Given the description of an element on the screen output the (x, y) to click on. 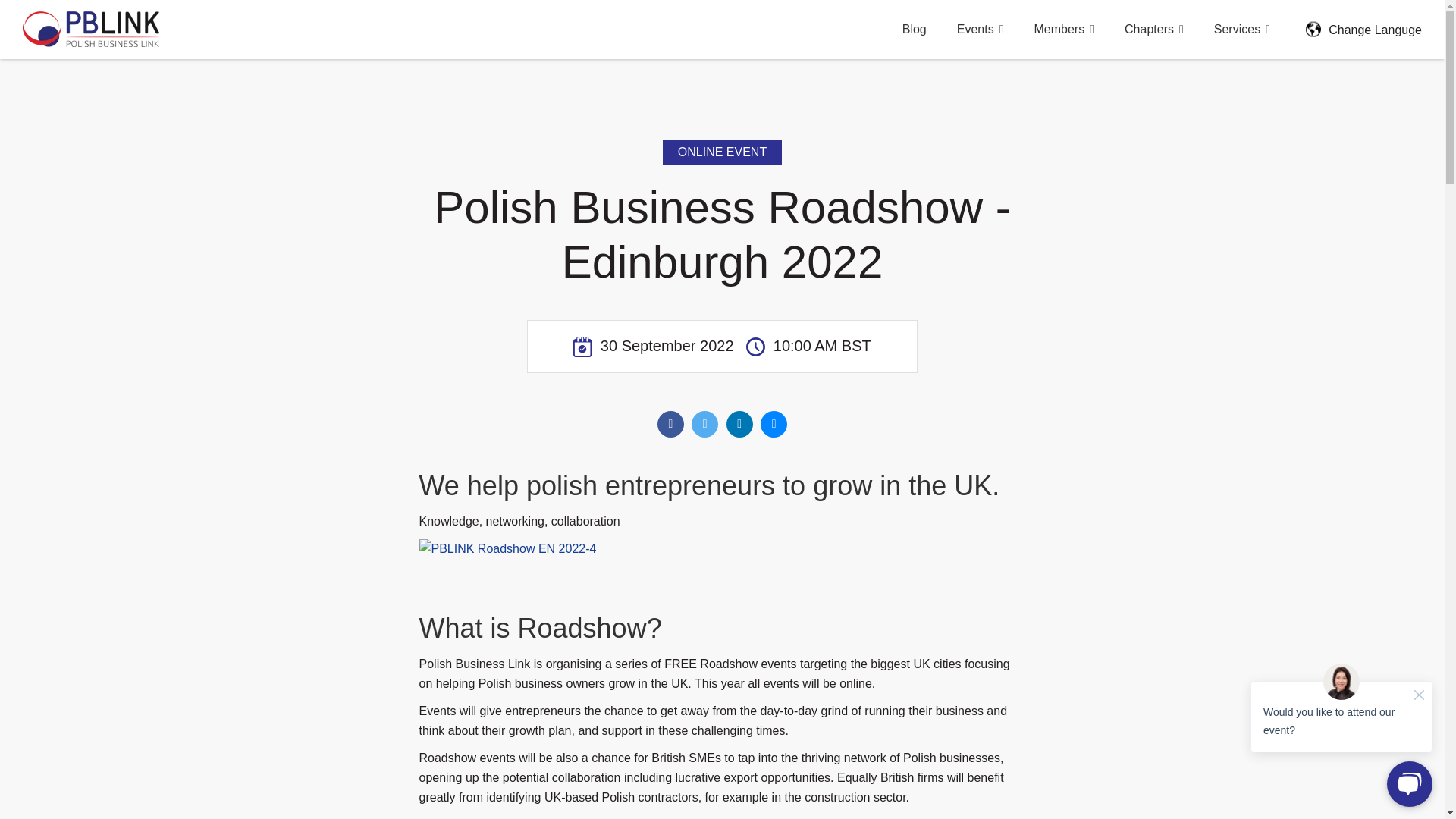
facebook (671, 424)
Members (1063, 29)
PBLINK Logo (90, 28)
Services (1241, 29)
Chapters (1154, 29)
linkedin (739, 424)
email (773, 424)
ONLINE EVENT (721, 152)
Events (979, 29)
twitter (704, 424)
